Given the description of an element on the screen output the (x, y) to click on. 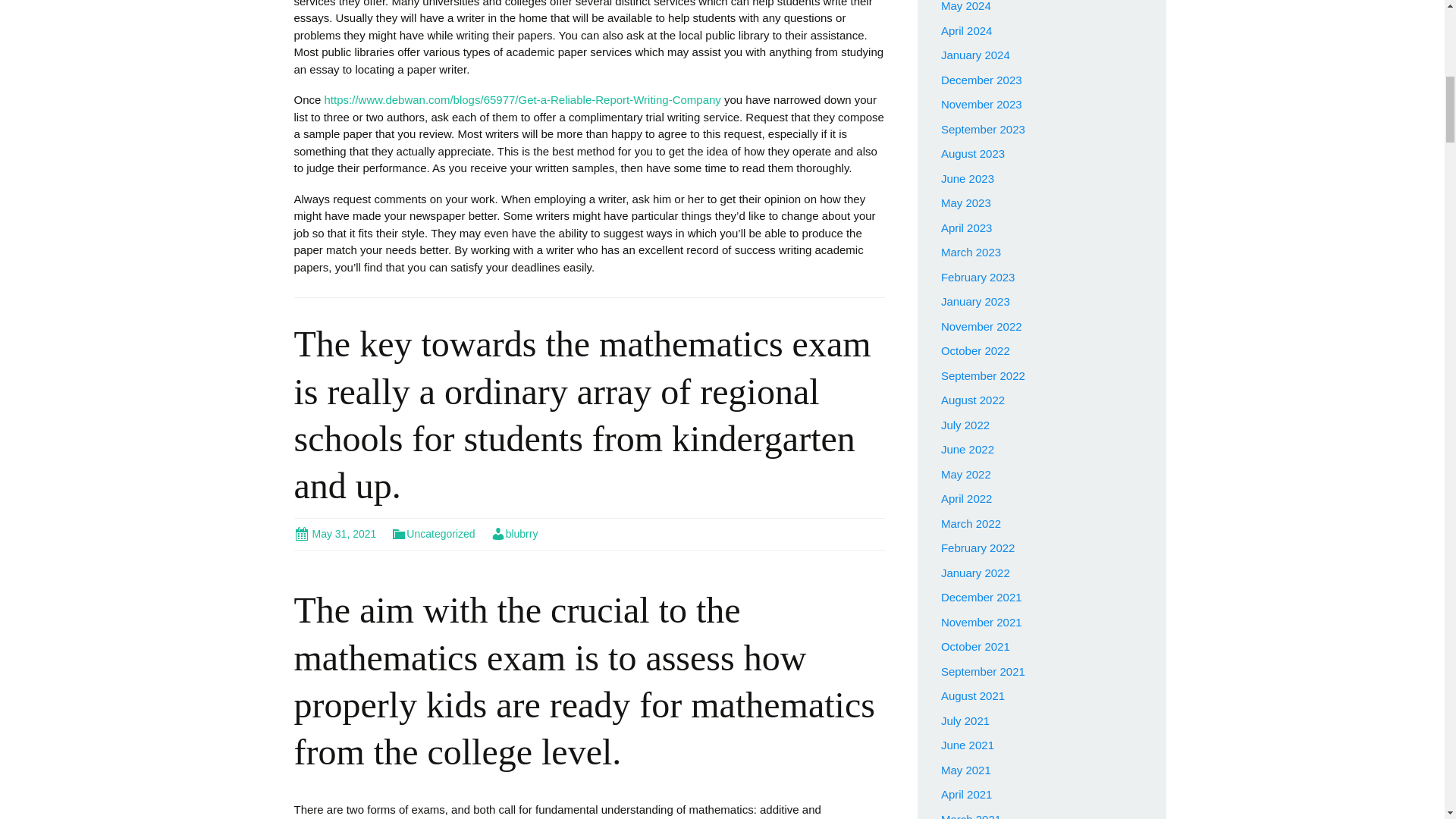
blubrry (514, 533)
May 31, 2021 (335, 533)
View all posts by blubrry (514, 533)
Uncategorized (432, 533)
